Given the description of an element on the screen output the (x, y) to click on. 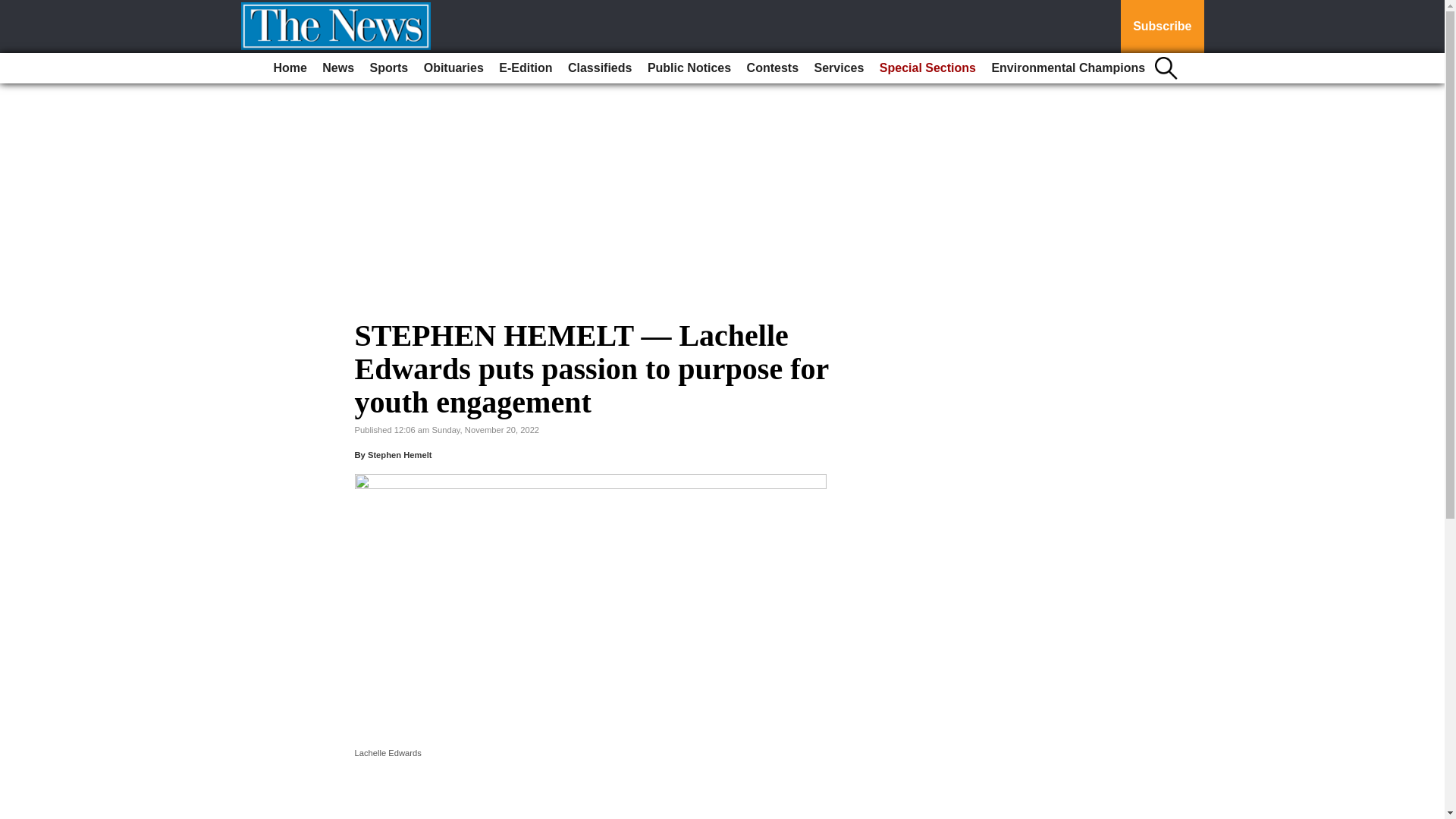
Subscribe (1162, 26)
Go (13, 9)
Contests (773, 68)
Home (289, 68)
News (337, 68)
Services (839, 68)
Special Sections (927, 68)
Public Notices (689, 68)
Stephen Hemelt (400, 454)
Obituaries (453, 68)
